Given the description of an element on the screen output the (x, y) to click on. 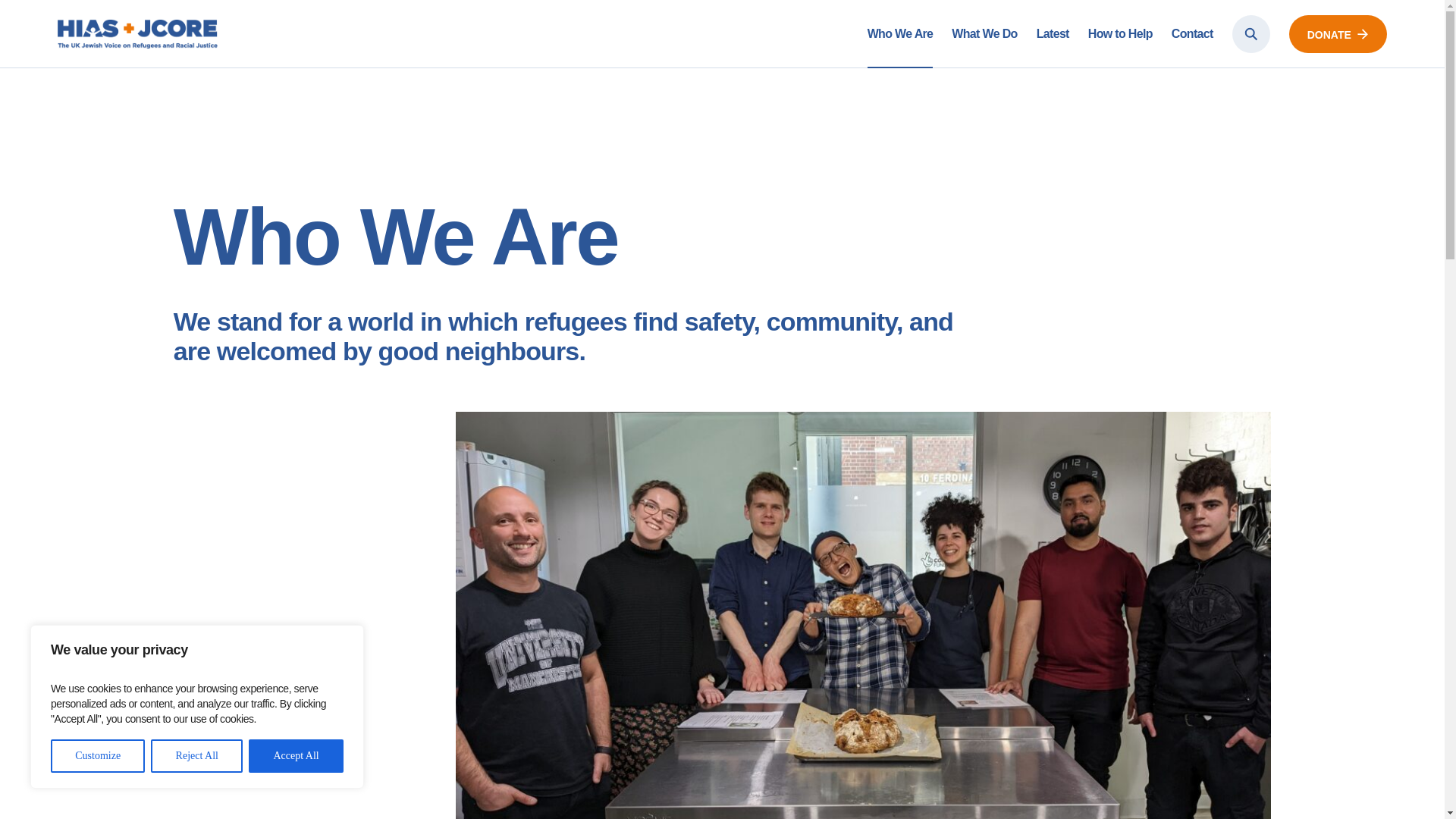
What We Do (984, 33)
Reject All (197, 756)
Accept All (295, 756)
Customize (97, 756)
Who We Are (900, 33)
How to Help (1120, 33)
